Given the description of an element on the screen output the (x, y) to click on. 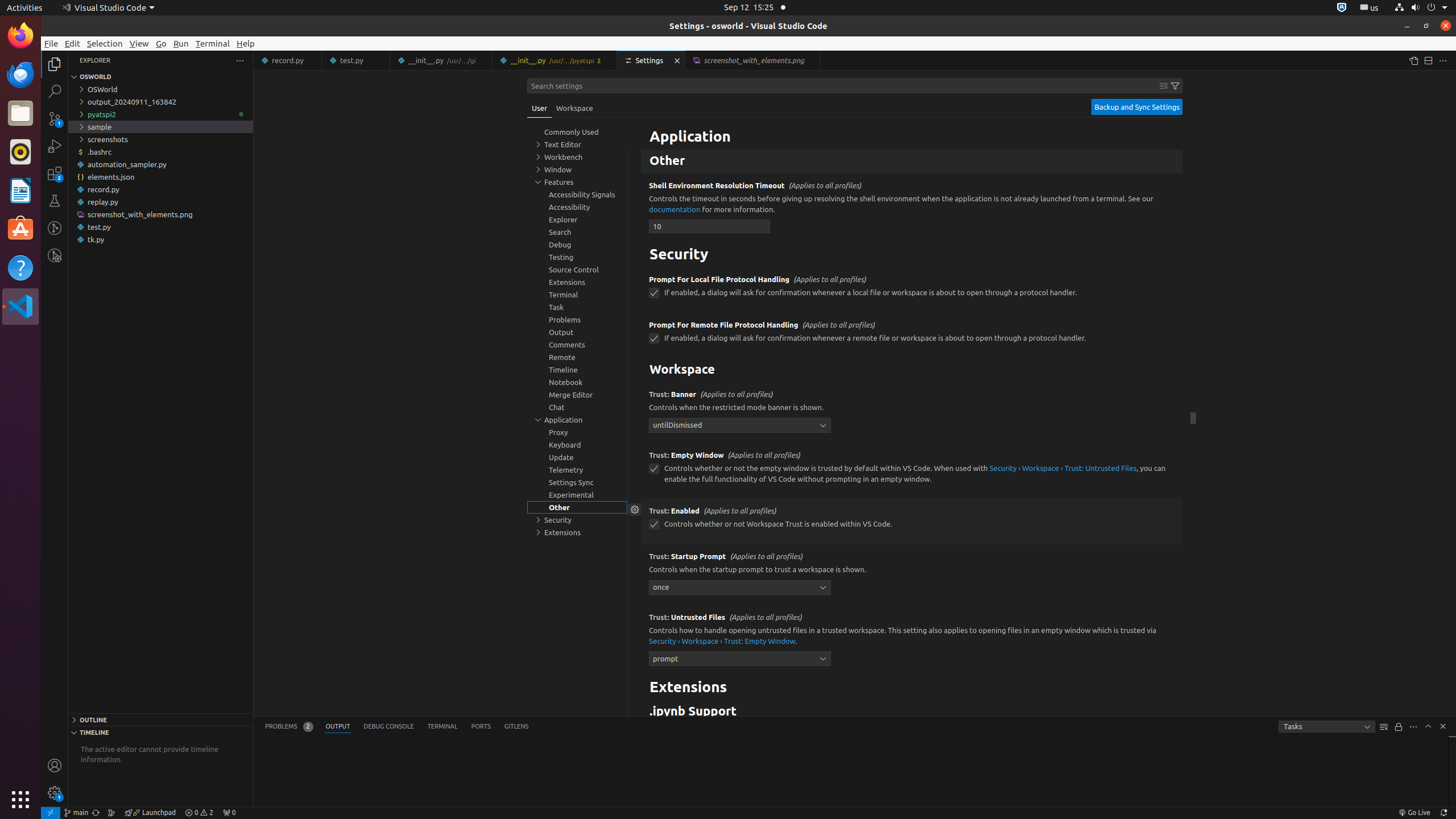
Hide Panel Element type: push-button (1442, 726)
Turn Auto Scrolling Off Element type: check-box (1398, 726)
screenshot_with_elements.png, preview Element type: page-tab (753, 60)
More Actions... Element type: push-button (1442, 60)
Terminal, group Element type: tree-item (577, 294)
